Given the description of an element on the screen output the (x, y) to click on. 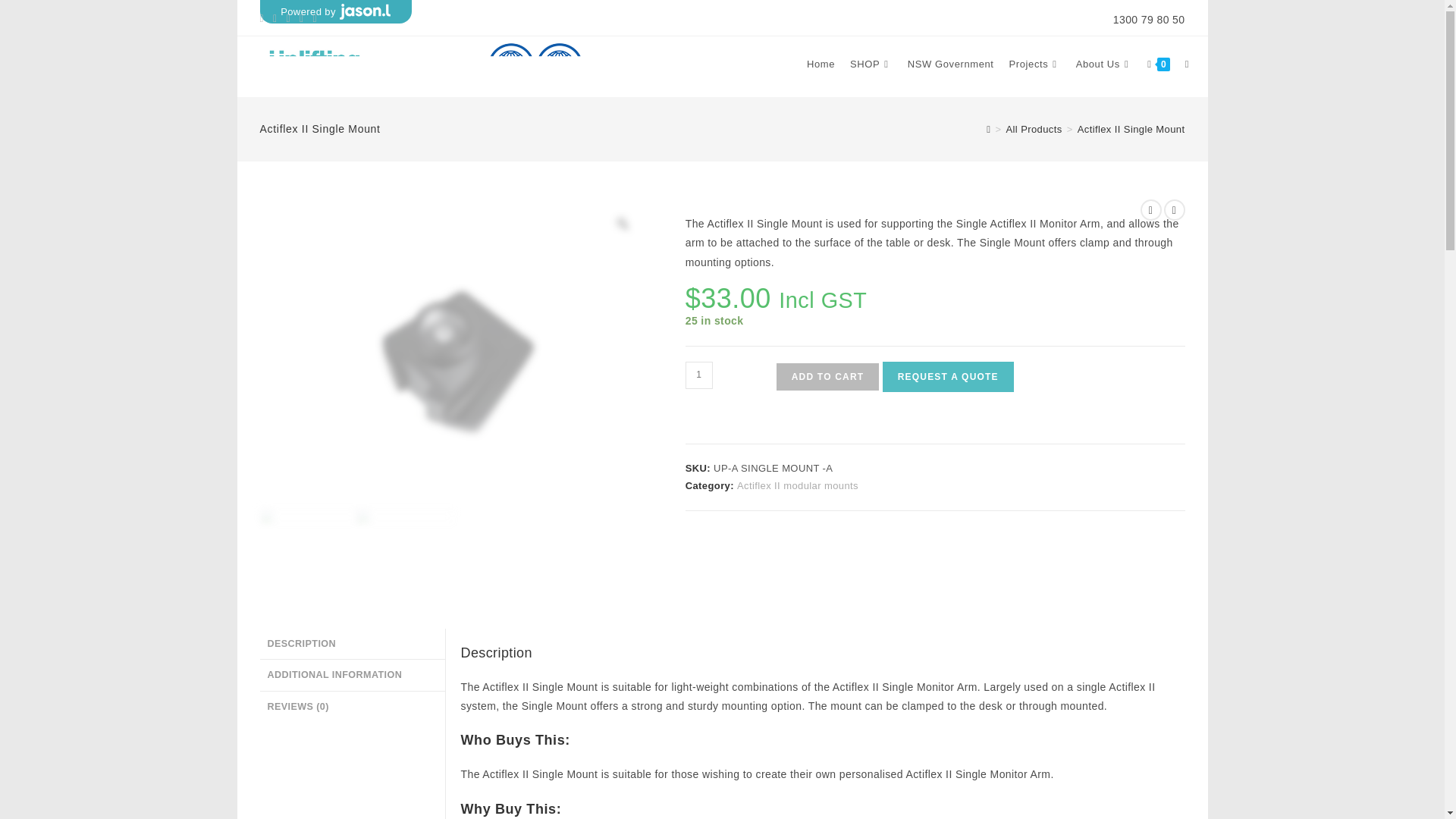
actiflex-ii-single-mount-gallery (404, 557)
Projects (1034, 64)
NSW Government (950, 64)
SHOP (871, 64)
Qty (699, 375)
actiflex single mount main (307, 557)
About Us (1104, 64)
1 (699, 375)
actiflex single mount main (452, 353)
